Given the description of an element on the screen output the (x, y) to click on. 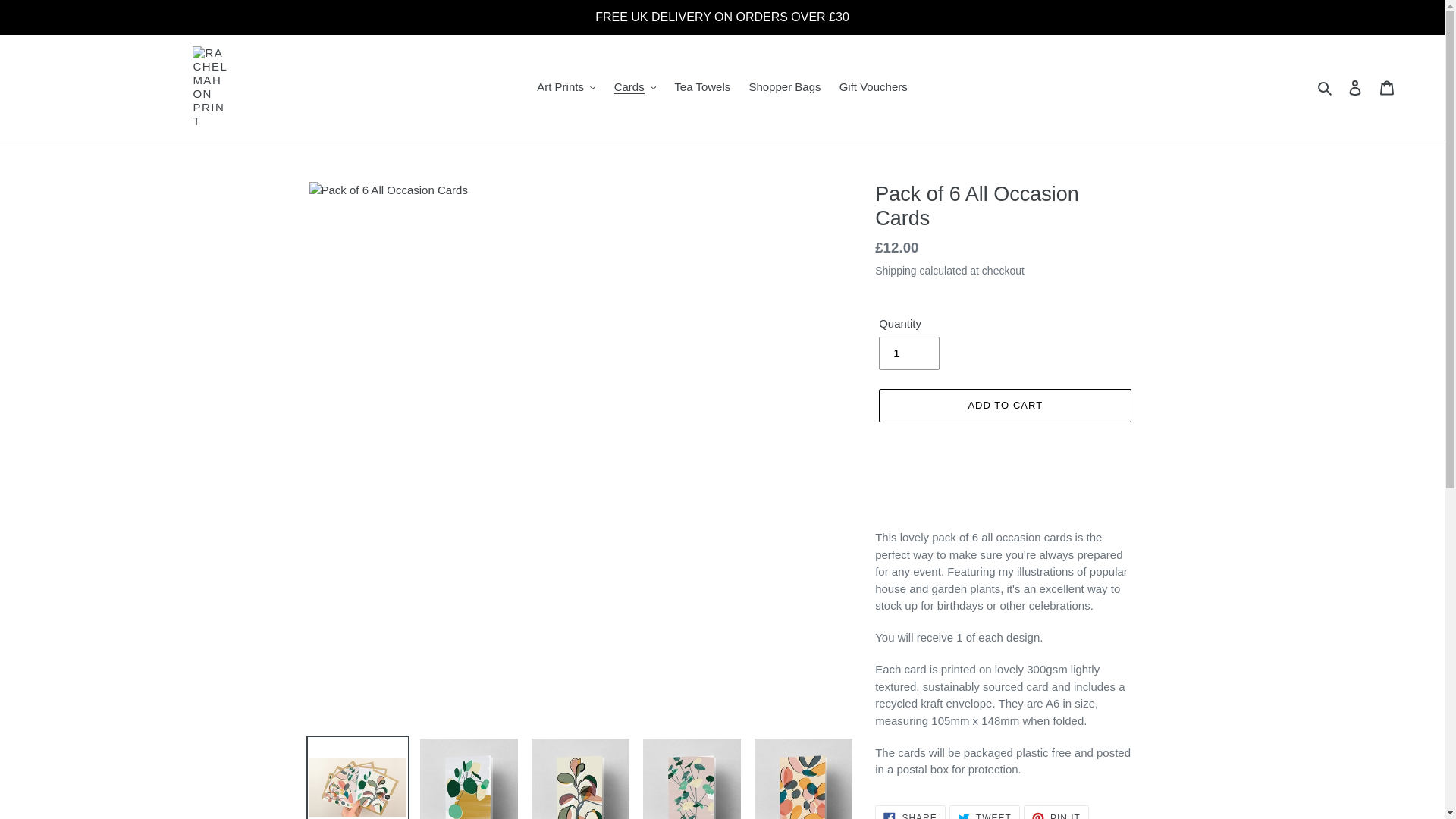
Search (1326, 87)
Cart (1387, 87)
Tea Towels (702, 87)
Cards (635, 87)
1 (909, 353)
Gift Vouchers (873, 87)
Log in (1355, 87)
Art Prints (565, 87)
Shopper Bags (784, 87)
